Given the description of an element on the screen output the (x, y) to click on. 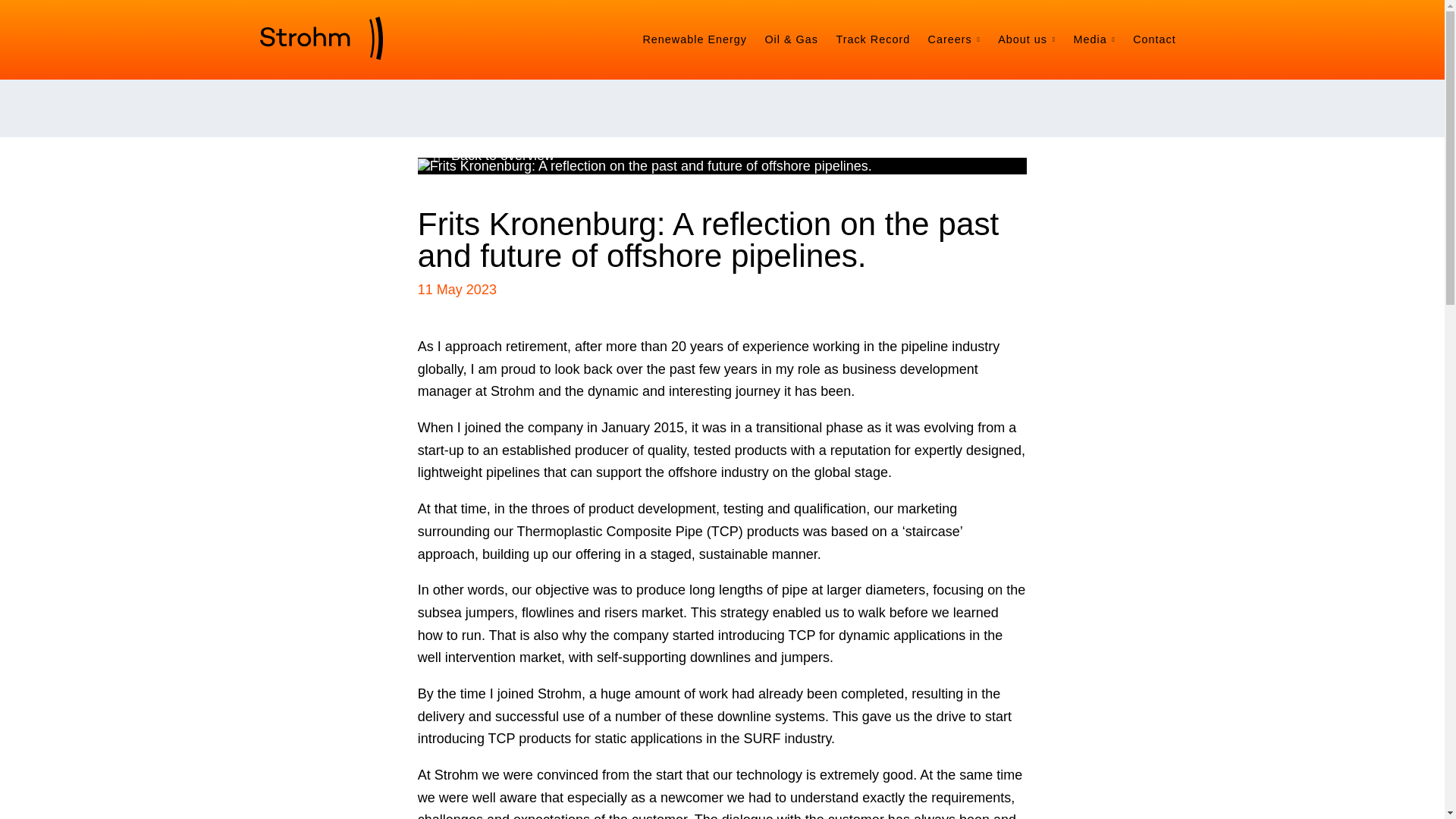
Strohm (320, 37)
About us (1027, 39)
Strohm (320, 37)
Renewable Energy (694, 39)
Track Record (872, 39)
Back to overview (493, 155)
